Given the description of an element on the screen output the (x, y) to click on. 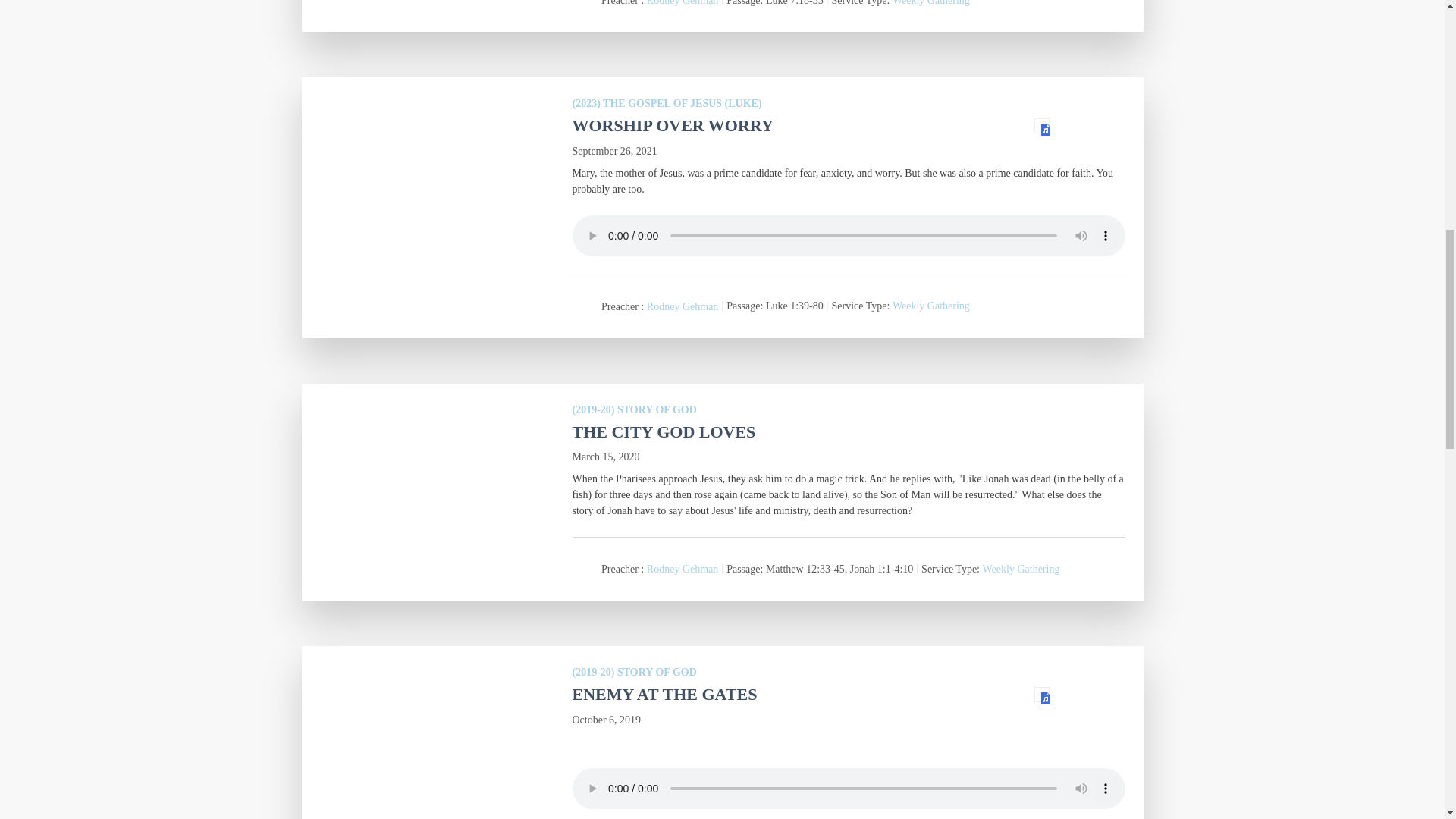
Audio (1041, 125)
Rodney Gehman (681, 2)
Rodney Gehman (681, 306)
WORSHIP OVER WORRY (672, 125)
Weekly Gathering (930, 2)
Audio (1041, 694)
THE CITY GOD LOVES (663, 431)
Weekly Gathering (930, 306)
